Given the description of an element on the screen output the (x, y) to click on. 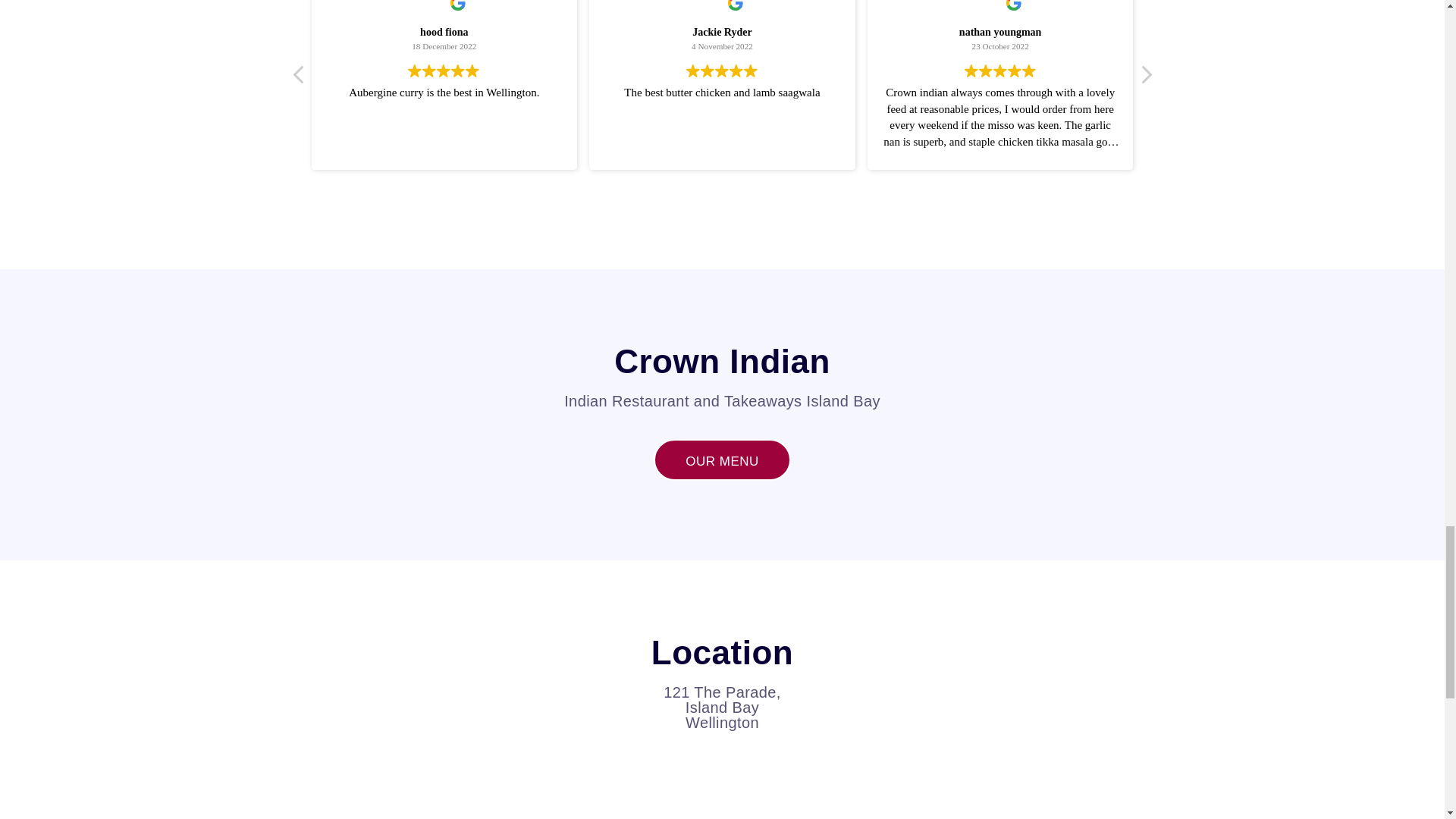
OUR MENU (721, 459)
21 The Parade, Island Bay, Wellington 6023, New Zealand (721, 782)
